Given the description of an element on the screen output the (x, y) to click on. 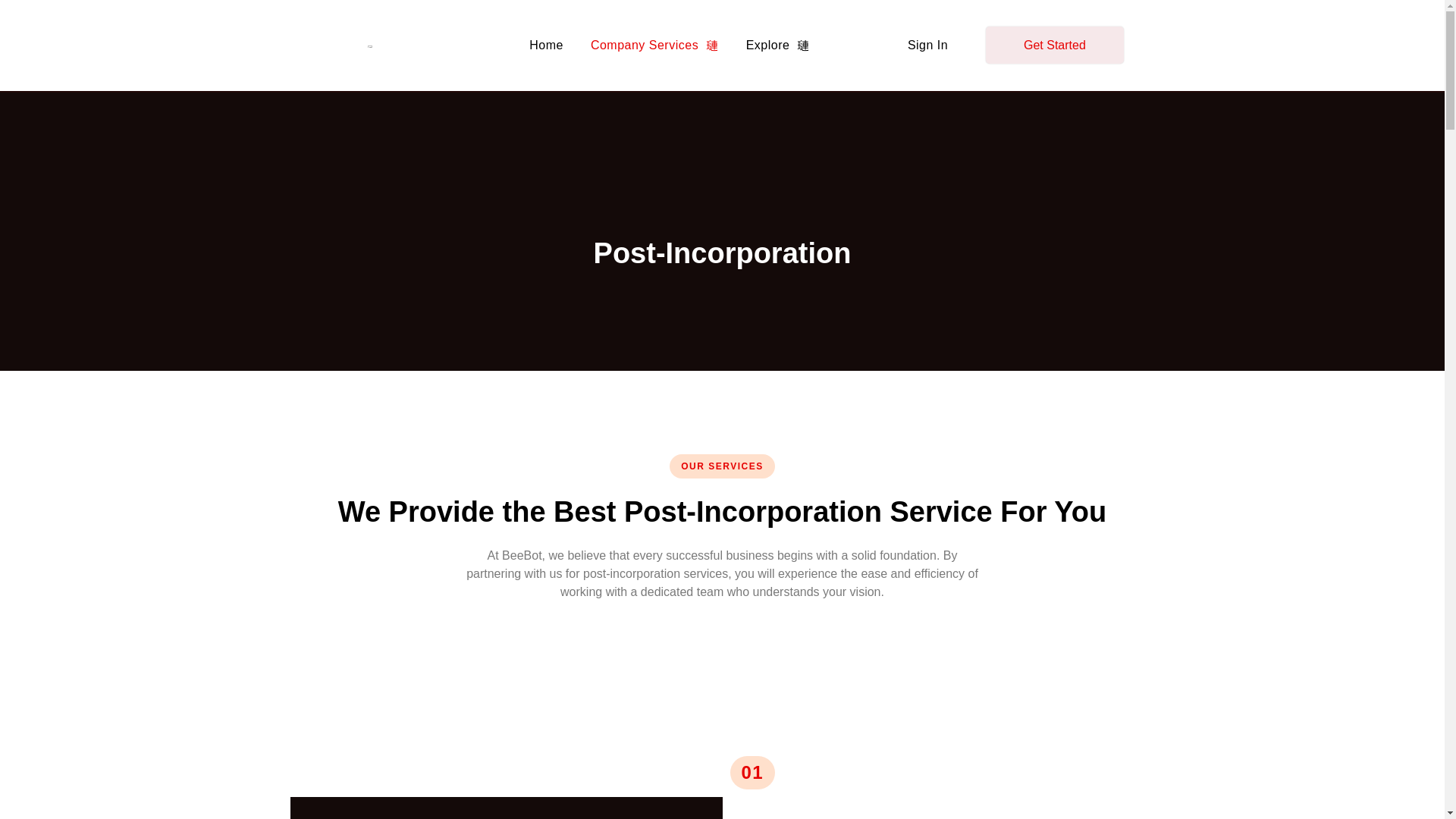
Sign In (927, 45)
Get Started (1054, 44)
Company Services (654, 45)
Home (545, 45)
Explore (778, 45)
